Given the description of an element on the screen output the (x, y) to click on. 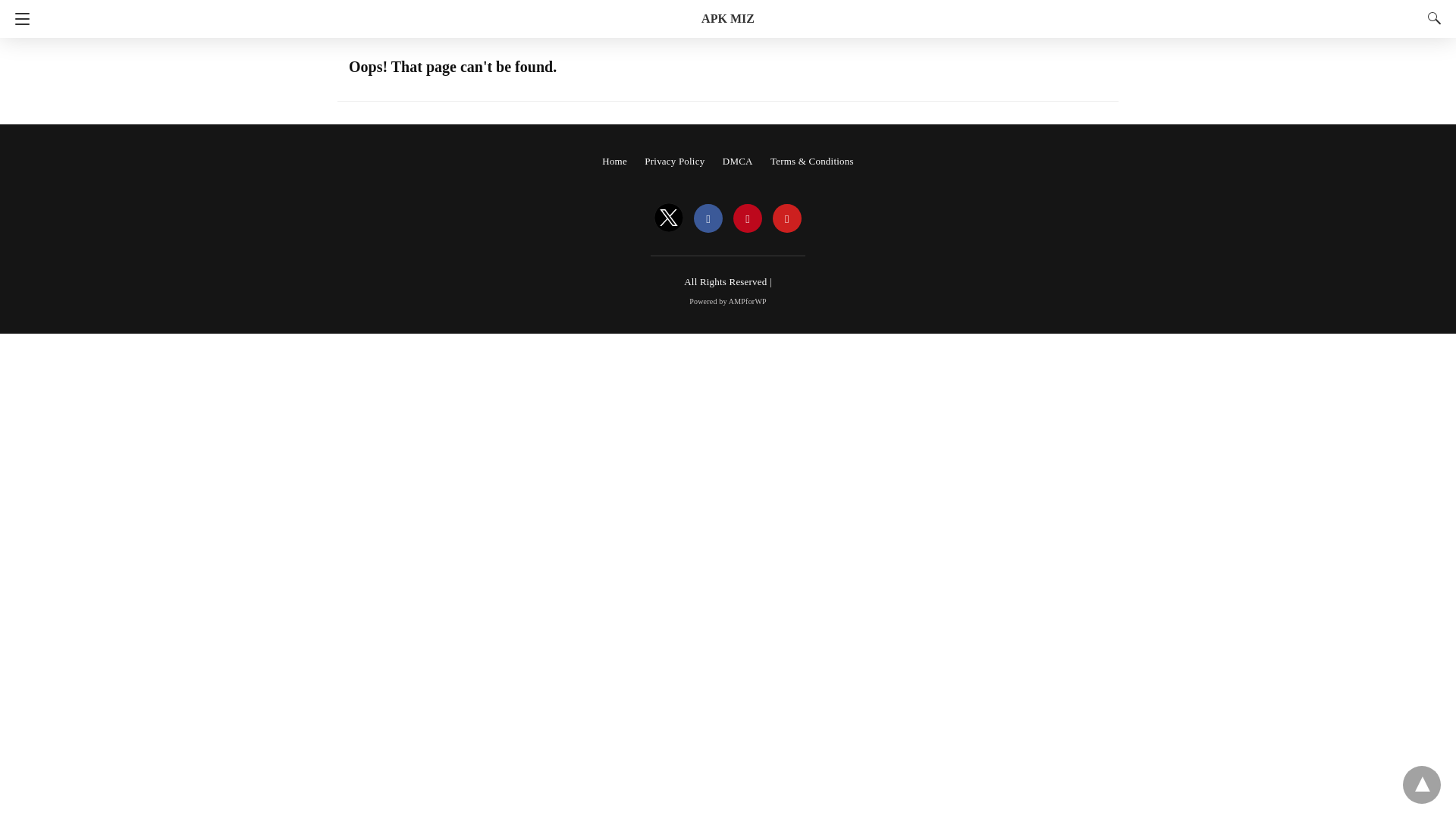
twitter profile (667, 218)
Home (614, 161)
Privacy Policy (674, 161)
pinterest profile (747, 218)
APK MIZ (727, 18)
AMP for WP (727, 301)
facebook profile (708, 218)
youtube profile (787, 218)
DMCA (737, 161)
Powered by AMPforWP (727, 301)
